Given the description of an element on the screen output the (x, y) to click on. 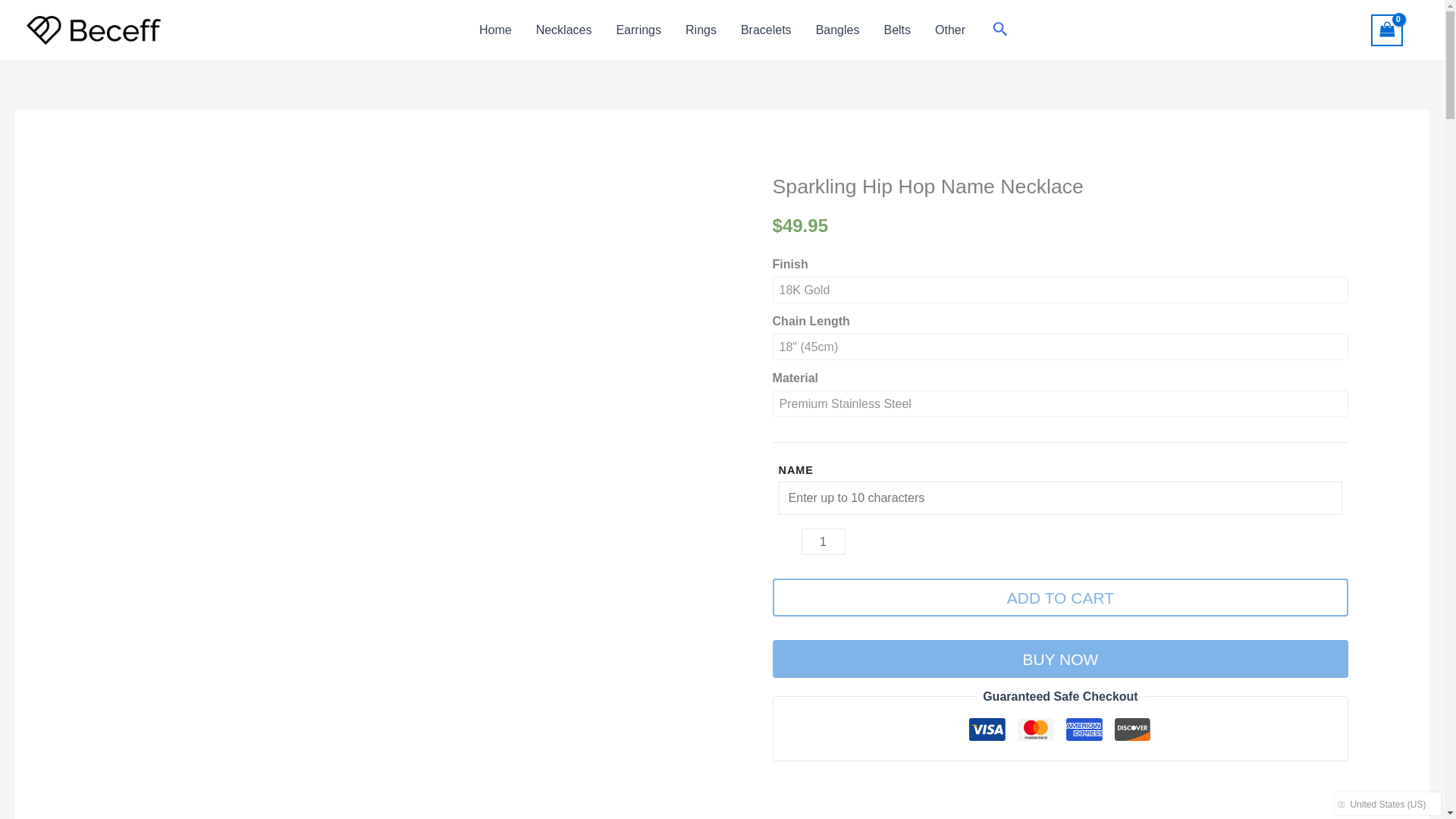
Necklaces (564, 30)
ADD TO CART (1061, 597)
1 (823, 541)
Earrings (638, 30)
Home (495, 30)
Bangles (837, 30)
BUY NOW (1061, 658)
Rings (700, 30)
Bracelets (766, 30)
Other (949, 30)
